Given the description of an element on the screen output the (x, y) to click on. 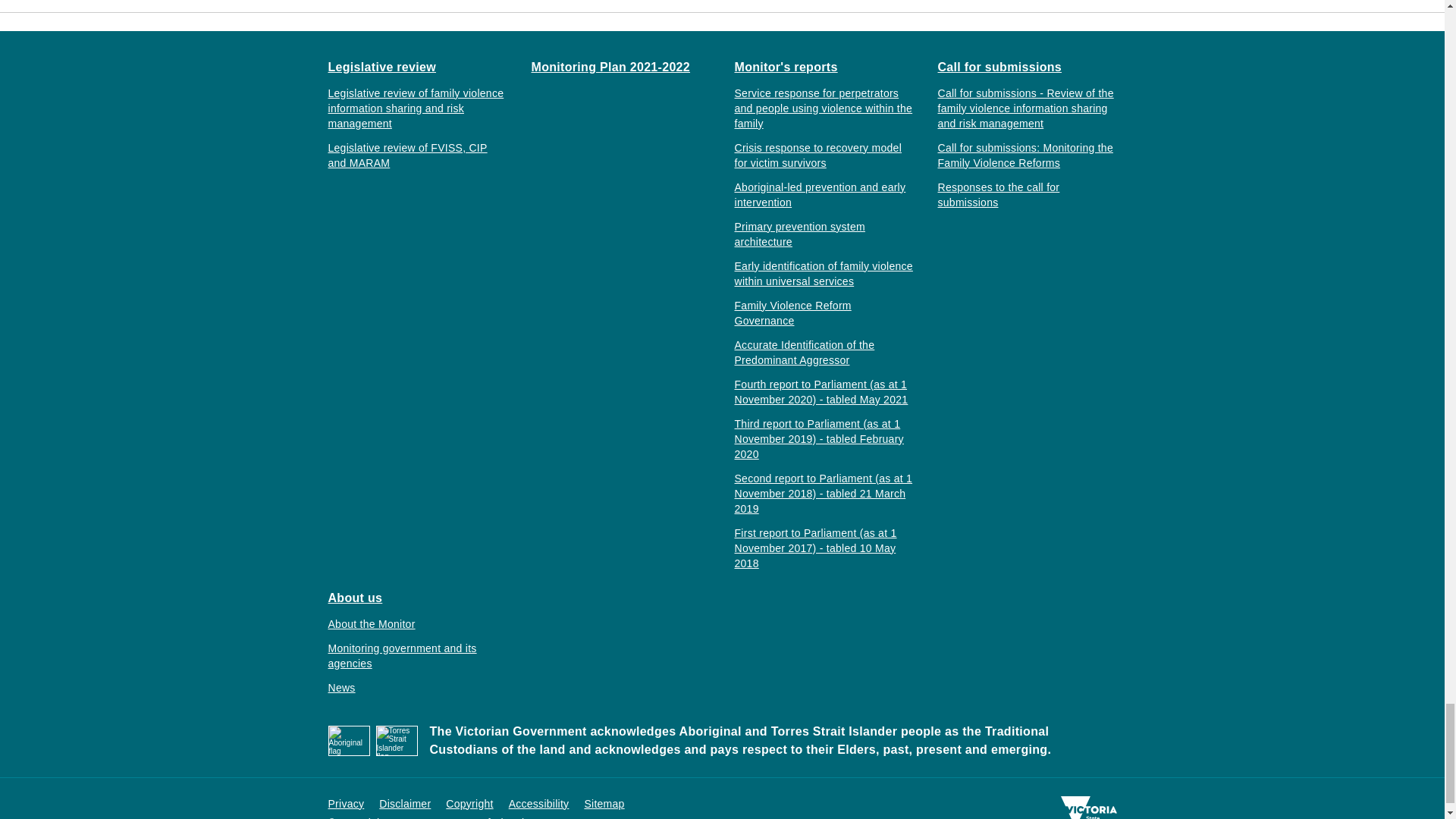
Monitoring Plan 2021-2022 (610, 66)
Family Violence Reform Governance (822, 312)
Legislative review (381, 66)
Primary prevention system architecture (822, 233)
Crisis response to recovery model for victim survivors (822, 154)
Aboriginal-led prevention and early intervention (822, 194)
Monitor's reports (785, 66)
Legislative review of FVISS, CIP and MARAM (416, 154)
